Given the description of an element on the screen output the (x, y) to click on. 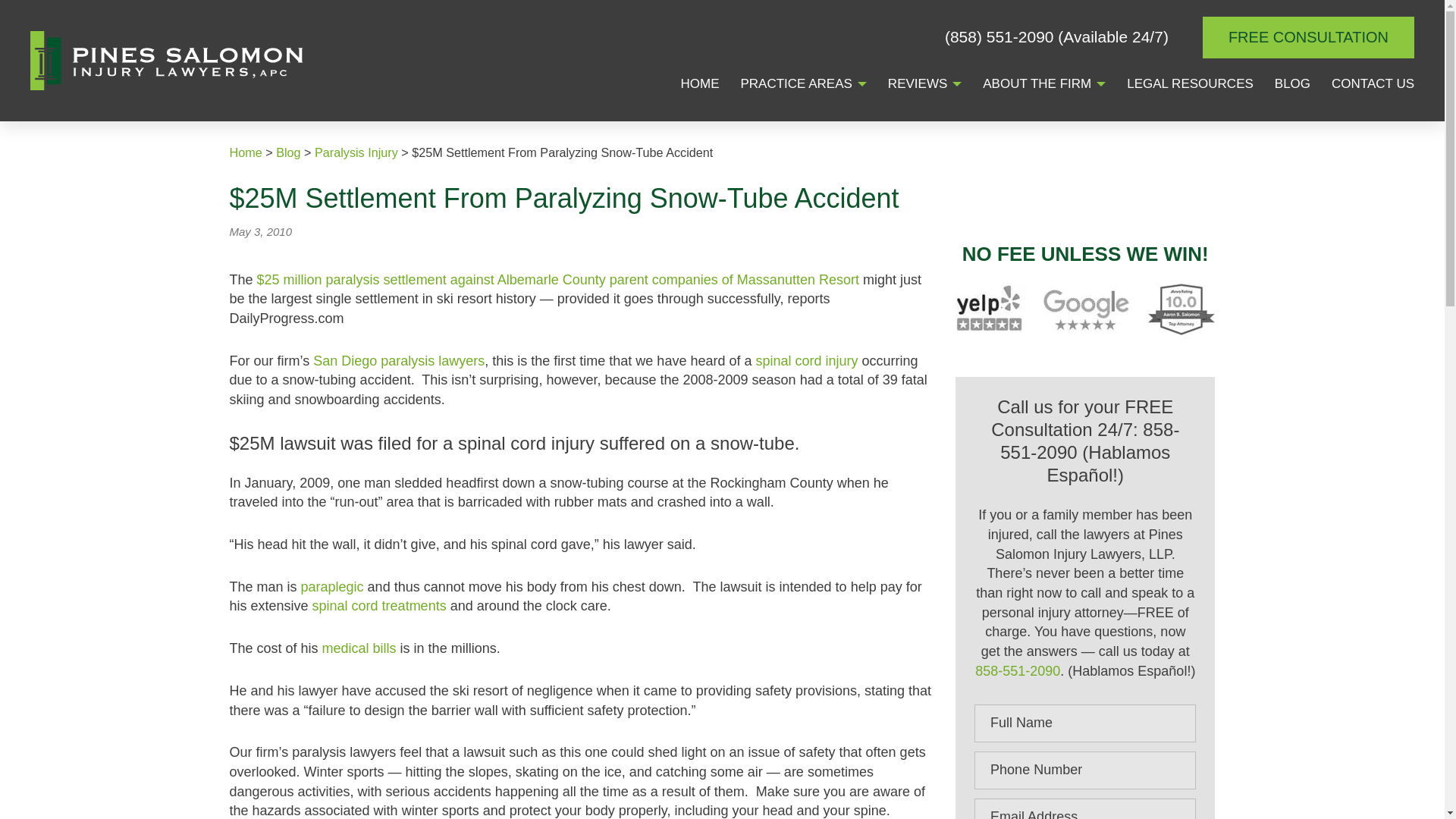
Go to Pines Salomon Injury Lawyers, LLP. (245, 151)
PRACTICE AREAS (795, 85)
Go to the Paralysis Injury Category archives. (355, 151)
FREE CONSULTATION (1307, 37)
Go to Blog. (287, 151)
